Given the description of an element on the screen output the (x, y) to click on. 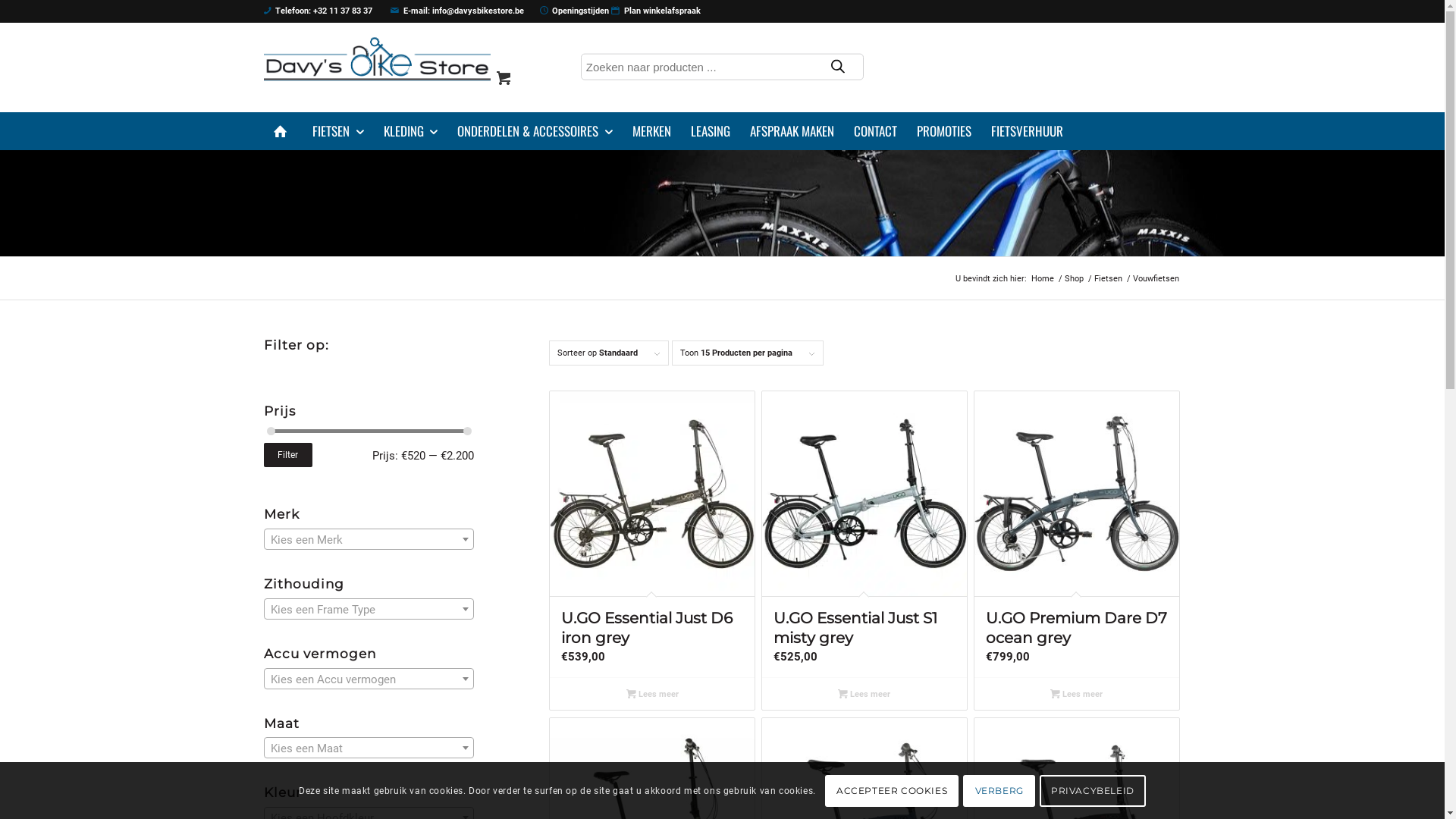
MERKEN Element type: text (650, 131)
Shop Element type: text (1073, 278)
Plan winkelafspraak Element type: text (655, 10)
Openingstijden Element type: text (574, 10)
LEASING Element type: text (710, 131)
Lees meer Element type: text (864, 693)
Telefoon: +32 11 37 83 37 Element type: text (318, 10)
E-mail: info@davysbikestore.be Element type: text (457, 10)
ONDERDELEN & ACCESSOIRES Element type: text (534, 131)
FIETSVERHUUR Element type: text (1027, 131)
CONTACT Element type: text (874, 131)
Filter Element type: text (287, 454)
Lees meer Element type: text (1076, 693)
logo Element type: hover (376, 59)
Fietsen Element type: text (1108, 278)
AFSPRAAK MAKEN Element type: text (792, 131)
VERBERG Element type: text (999, 790)
Lees meer Element type: text (651, 693)
PRIVACYBELEID Element type: text (1092, 790)
PROMOTIES Element type: text (943, 131)
KLEDING Element type: text (410, 131)
FIETSEN Element type: text (337, 131)
ACCEPTEER COOKIES Element type: text (892, 790)
Home Element type: text (1041, 278)
